Given the description of an element on the screen output the (x, y) to click on. 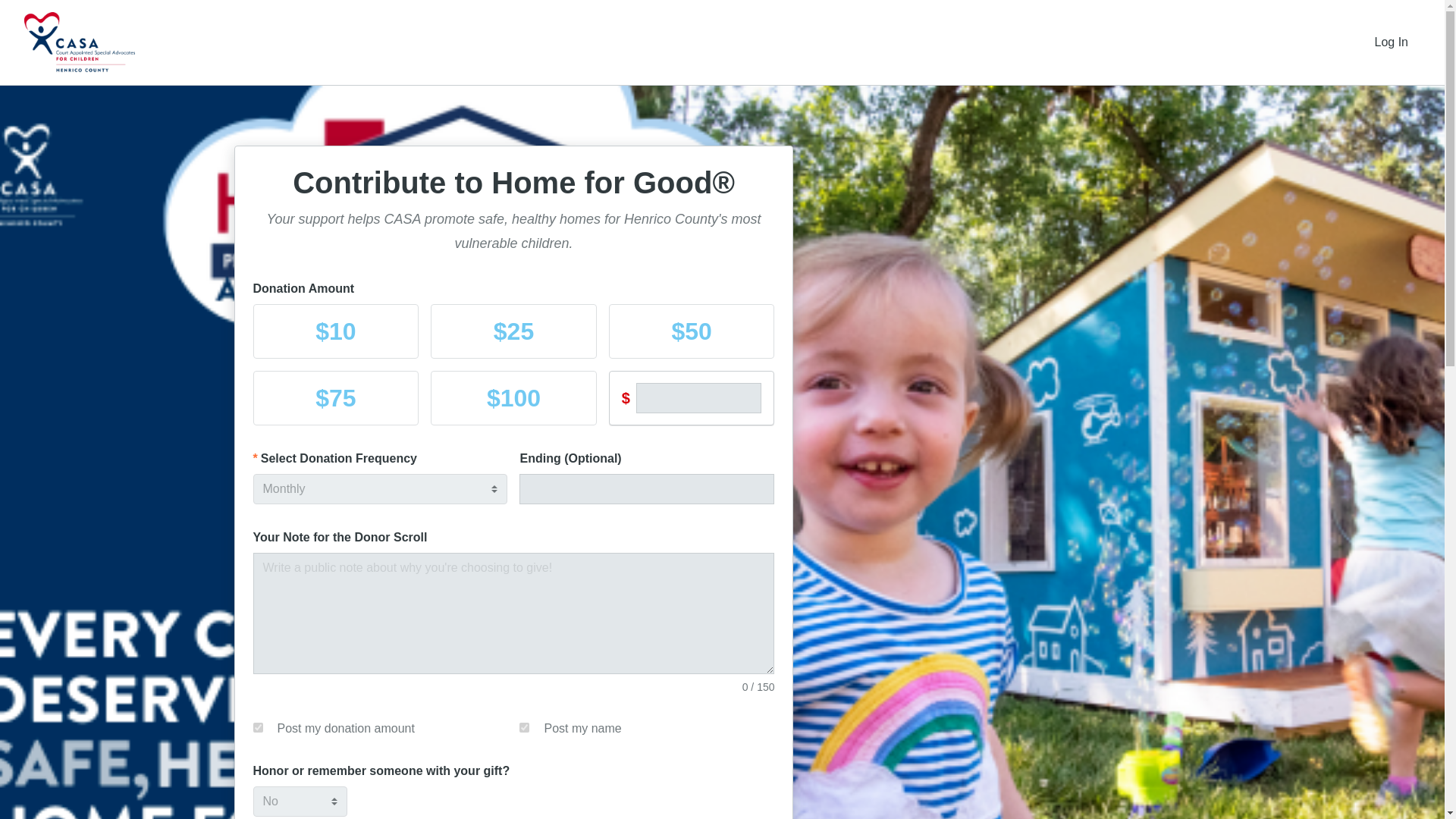
Log In (1391, 42)
1 (258, 727)
1 (524, 727)
Custom Donation Amount (698, 398)
